Given the description of an element on the screen output the (x, y) to click on. 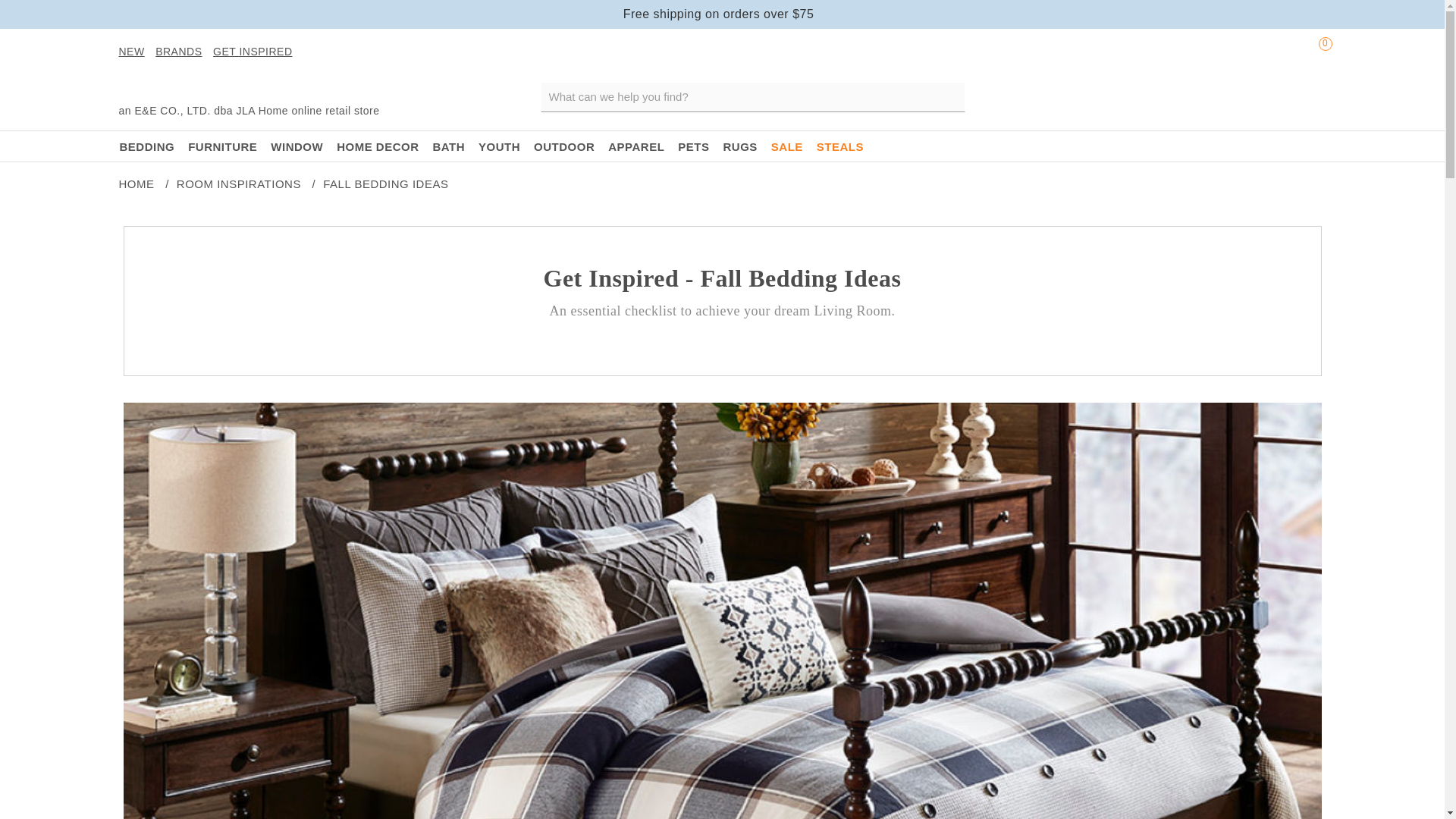
NEW (133, 51)
DESIGNER LIVING (241, 89)
BRANDS (180, 51)
0 (1316, 51)
GET INSPIRED (254, 51)
DESIGNER LIVING (241, 89)
Shopping Cart (1316, 51)
BEDDING (145, 146)
